Given the description of an element on the screen output the (x, y) to click on. 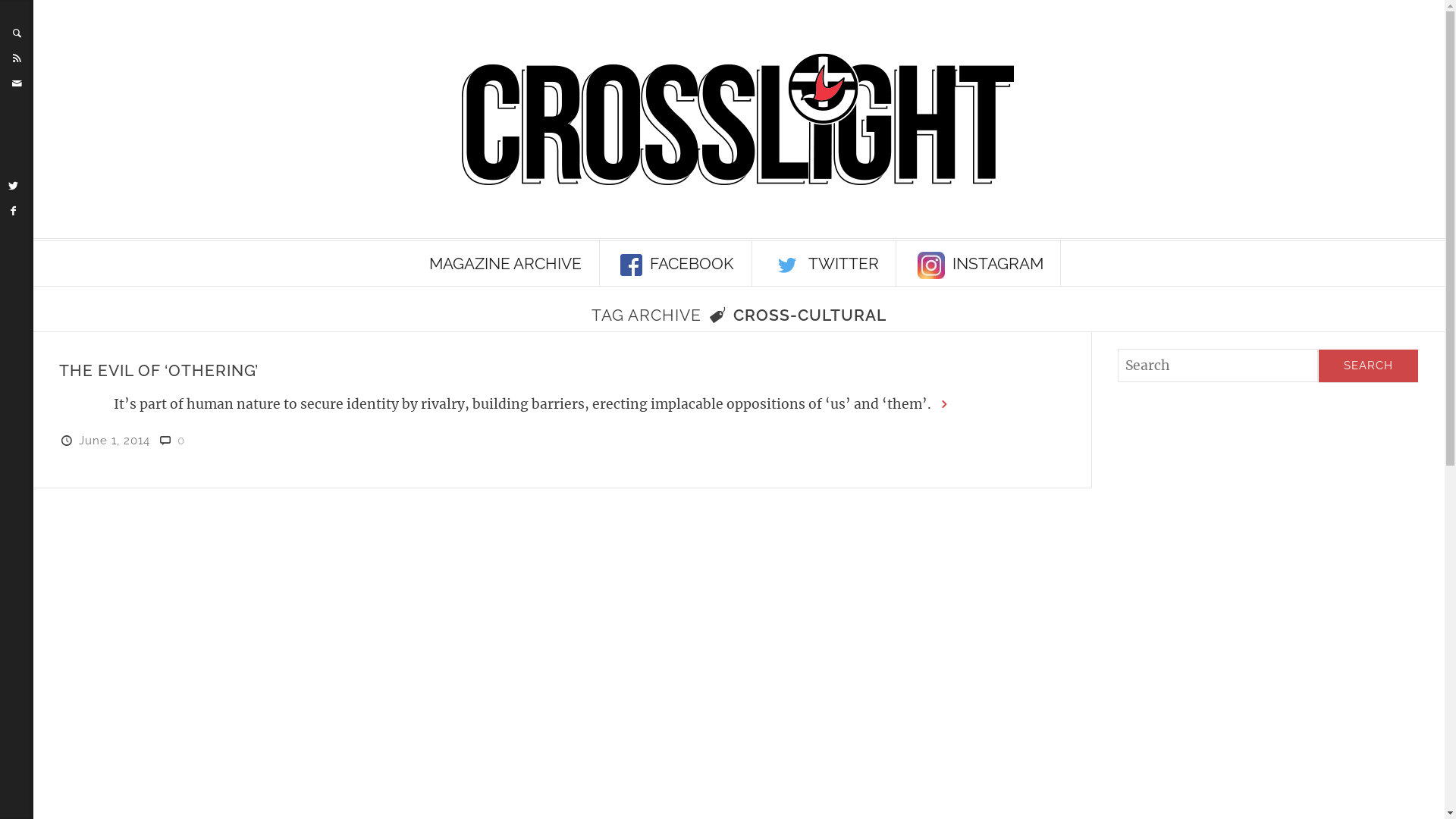
RSS Element type: hover (16, 58)
Search Element type: text (1367, 365)
MAGAZINE ARCHIVE Element type: text (505, 263)
FACEBOOK Element type: text (677, 263)
Twitter Element type: hover (13, 185)
TWITTER Element type: text (825, 263)
Crosslight Element type: hover (738, 119)
INSTAGRAM Element type: text (980, 263)
0 Element type: text (181, 440)
Facebook Element type: hover (13, 210)
